Given the description of an element on the screen output the (x, y) to click on. 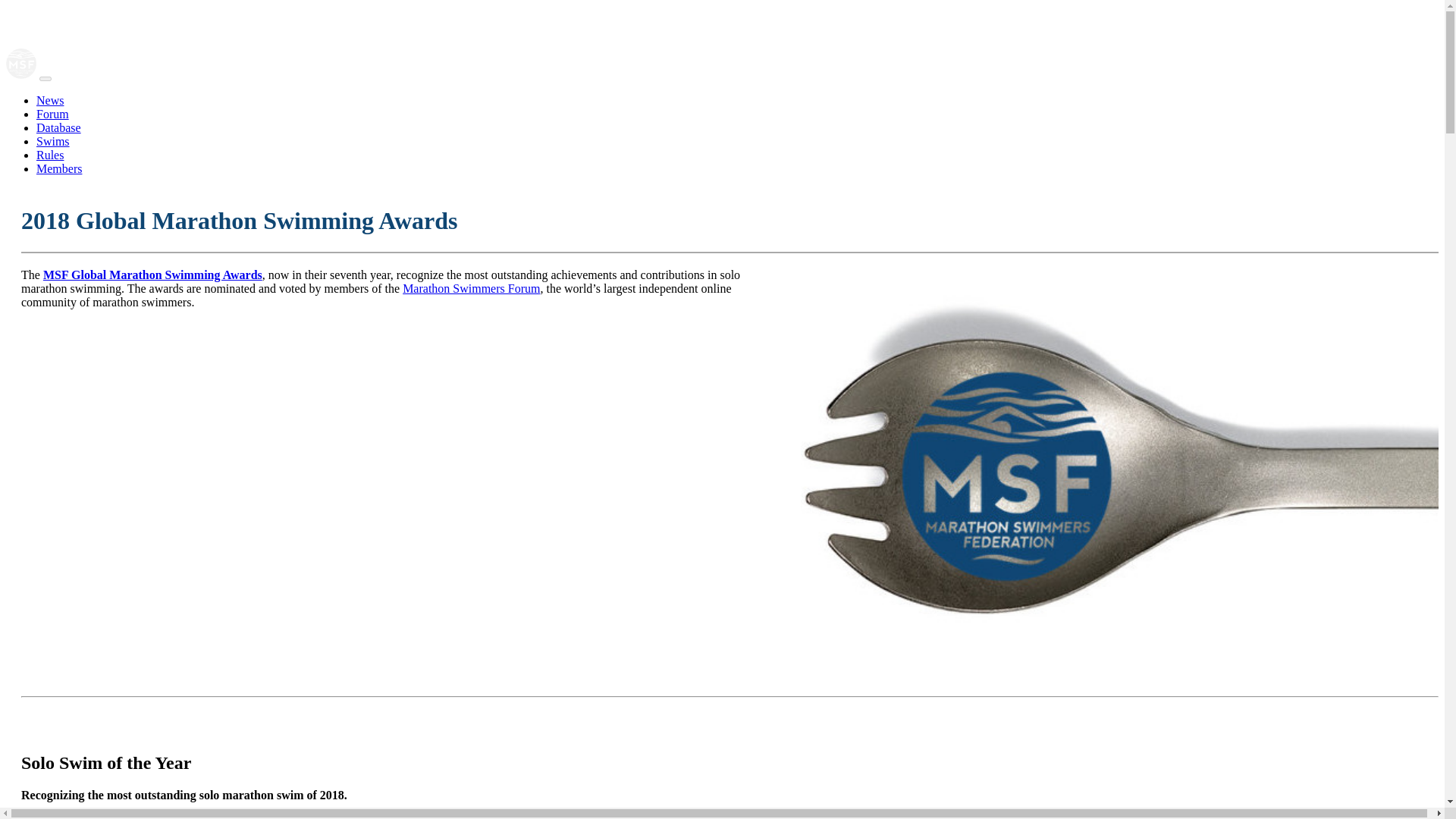
Swims (52, 141)
Cameron Bellamy (76, 817)
Rules (50, 154)
Members (58, 168)
MSF Global Marathon Swimming Awards (152, 274)
Database (58, 127)
Marathon Swimmers Forum (471, 287)
Forum (52, 113)
News (50, 100)
